Given the description of an element on the screen output the (x, y) to click on. 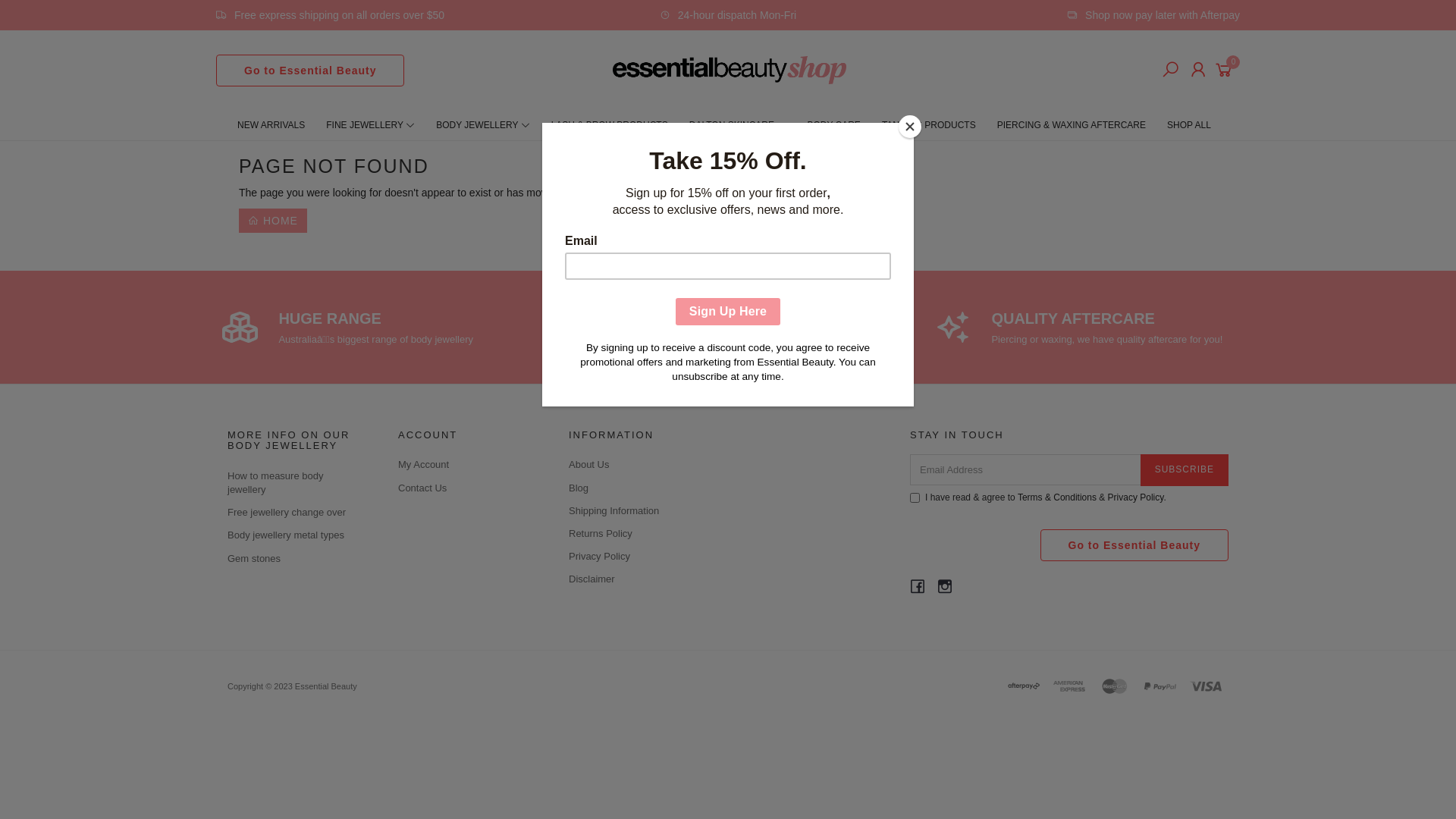
NEW ARRIVALS Element type: text (270, 124)
Essential Beauty Element type: hover (729, 68)
SHOP ALL Element type: text (1189, 124)
FINE JEWELLERY Element type: text (370, 124)
24-hour dispatch Mon-Fri Element type: text (727, 15)
BODY CARE Element type: text (832, 124)
How to measure body jewellery Element type: text (295, 482)
Contact Us Element type: text (466, 487)
Go to Essential Beauty Element type: text (1134, 545)
Privacy Policy Element type: text (1135, 497)
Shop now pay later with Afterpay Element type: text (1152, 15)
0 Element type: text (1226, 68)
Terms & Conditions Element type: text (1056, 497)
About Us Element type: text (636, 464)
Returns Policy Element type: text (636, 533)
LASH & BROW PRODUCTS Element type: text (609, 124)
Shipping Information Element type: text (636, 510)
Blog Element type: text (636, 487)
DALTON SKINCARE Element type: text (737, 124)
Gem stones Element type: text (295, 558)
Body jewellery metal types Element type: text (295, 535)
HOME Element type: text (272, 219)
My Account Element type: text (466, 464)
Go to Essential Beauty Element type: text (310, 70)
Disclaimer Element type: text (636, 578)
PIERCING & WAXING AFTERCARE Element type: text (1071, 124)
Subscribe Element type: text (1184, 469)
Free jewellery change over Element type: text (295, 512)
TANNING PRODUCTS Element type: text (928, 124)
BODY JEWELLERY Element type: text (482, 124)
Privacy Policy Element type: text (636, 556)
Free express shipping on all orders over $50 Element type: text (330, 15)
